Given the description of an element on the screen output the (x, y) to click on. 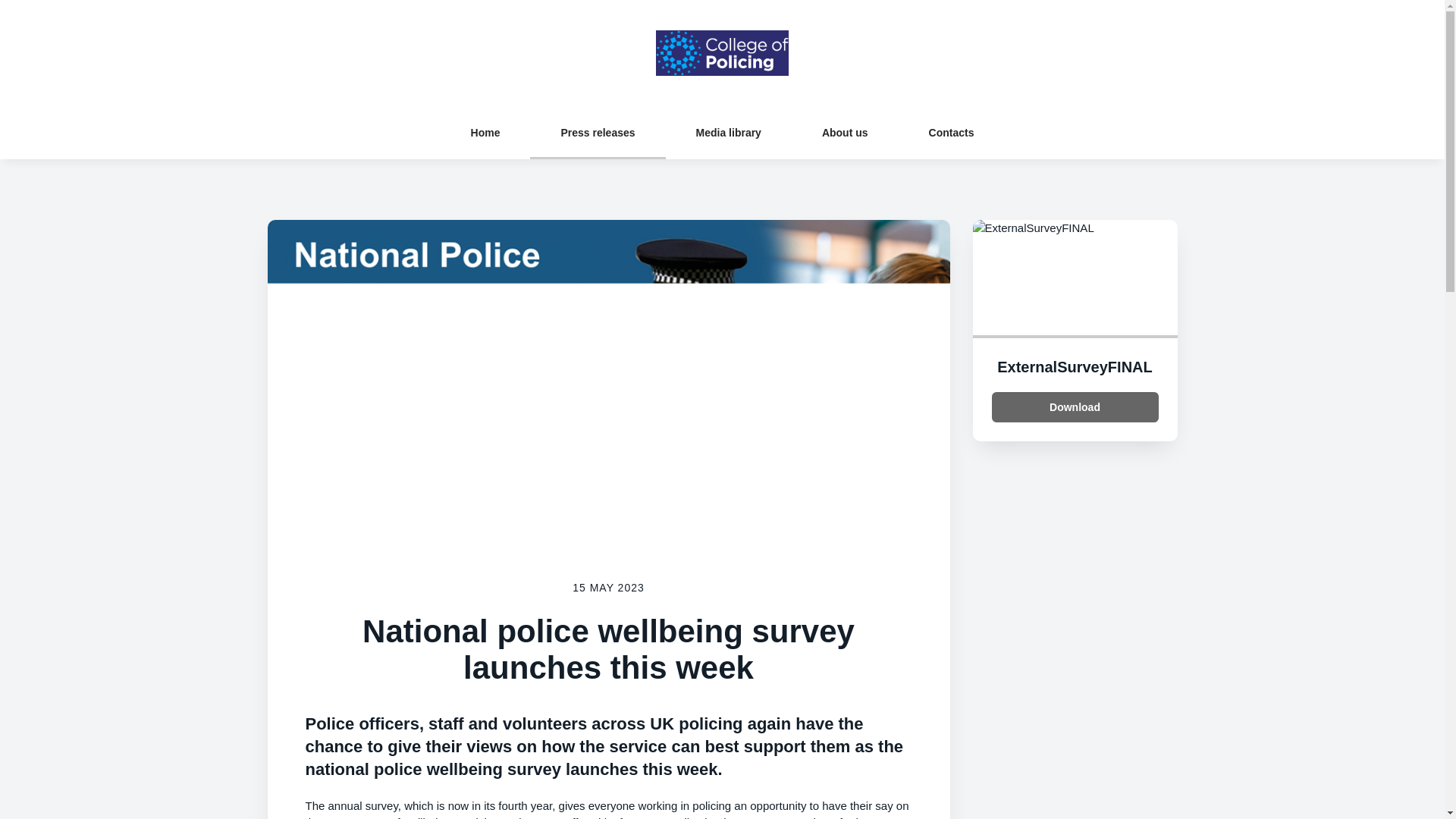
About us (845, 132)
Contacts (951, 132)
Download (1074, 407)
Home (486, 132)
Press releases (597, 132)
ExternalSurveyFINAL (1075, 366)
Media library (728, 132)
